Given the description of an element on the screen output the (x, y) to click on. 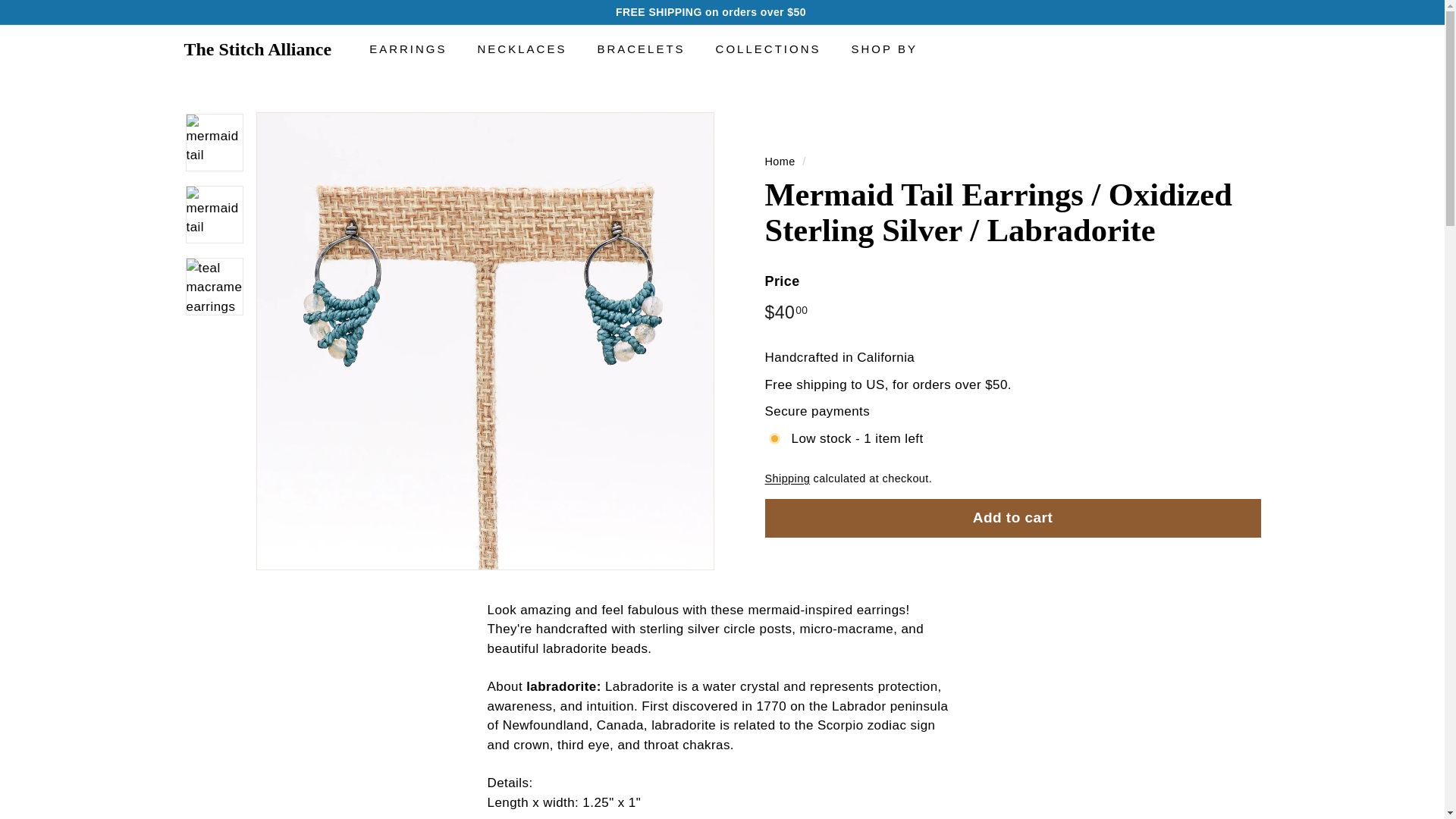
Instagram (1248, 12)
NECKLACES (522, 49)
The Stitch Alliance on Instagram (1248, 12)
The Stitch Alliance (257, 48)
Facebook (1256, 12)
The Stitch Alliance on Facebook (1256, 12)
Back to the frontpage (779, 160)
